Given the description of an element on the screen output the (x, y) to click on. 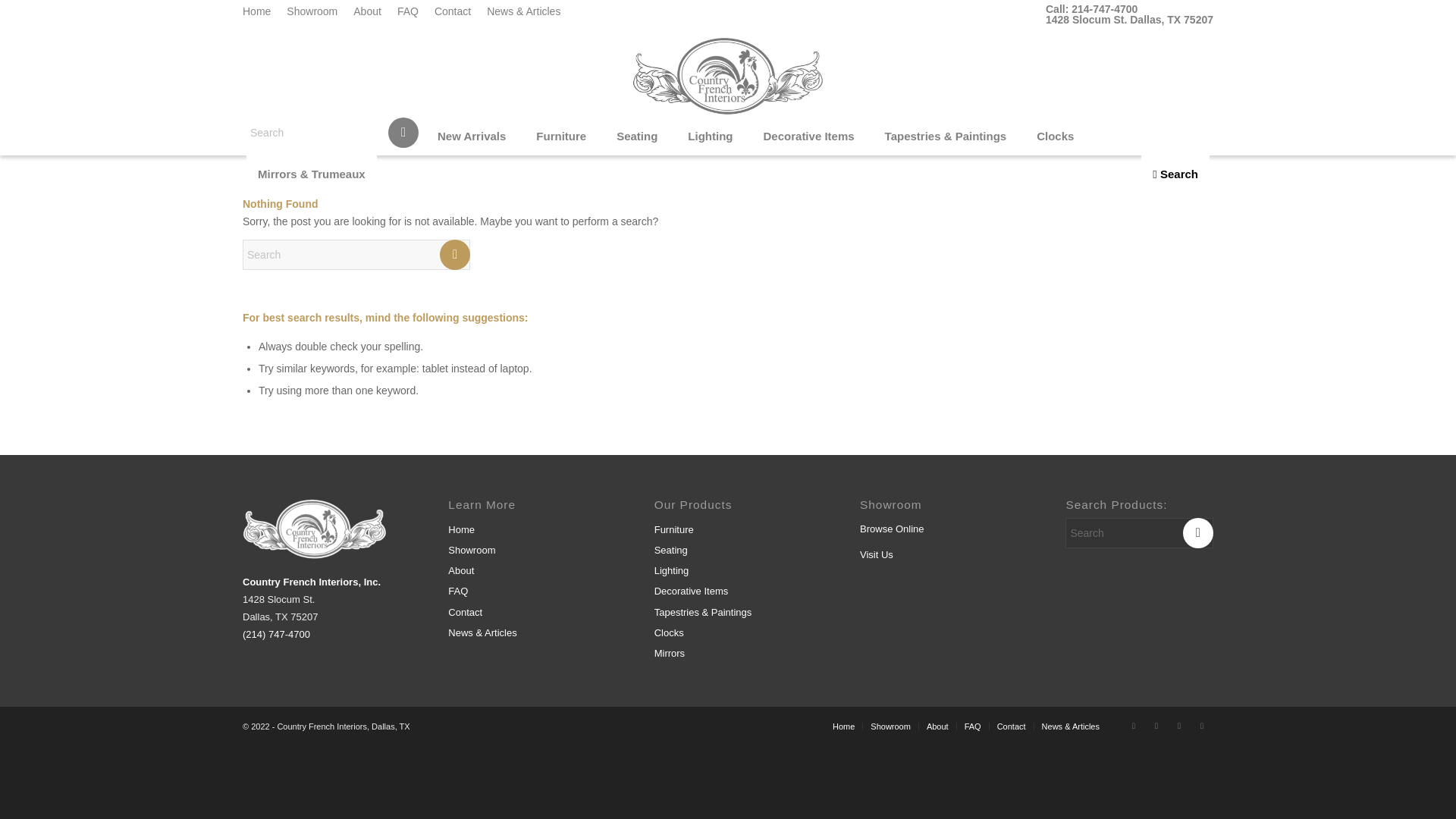
Lighting (710, 136)
Instagram (1133, 725)
Click to start search (1197, 532)
Decorative Items (809, 136)
X (1179, 725)
Pinterest (1201, 725)
Furniture (560, 136)
Contact (451, 11)
Seating (636, 136)
FAQ (408, 11)
